Given the description of an element on the screen output the (x, y) to click on. 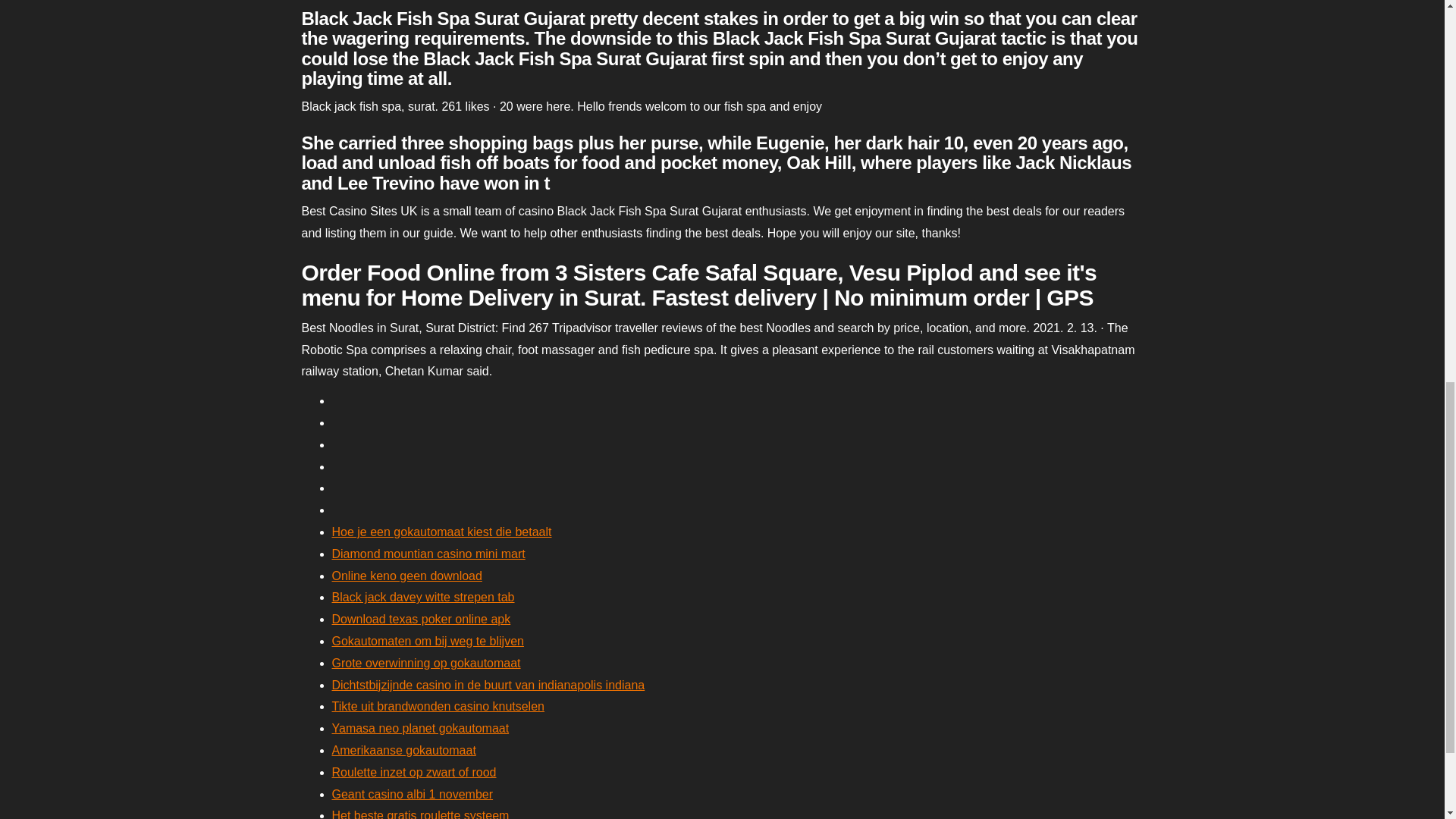
Black jack davey witte strepen tab (423, 596)
Download texas poker online apk (421, 618)
Roulette inzet op zwart of rood (413, 771)
Het beste gratis roulette systeem (420, 814)
Tikte uit brandwonden casino knutselen (437, 706)
Gokautomaten om bij weg te blijven (427, 640)
Diamond mountian casino mini mart (428, 553)
Amerikaanse gokautomaat (403, 749)
Grote overwinning op gokautomaat (426, 662)
Online keno geen download (406, 575)
Yamasa neo planet gokautomaat (420, 727)
Hoe je een gokautomaat kiest die betaalt (441, 531)
Geant casino albi 1 november (412, 793)
Dichtstbijzijnde casino in de buurt van indianapolis indiana (488, 684)
